Given the description of an element on the screen output the (x, y) to click on. 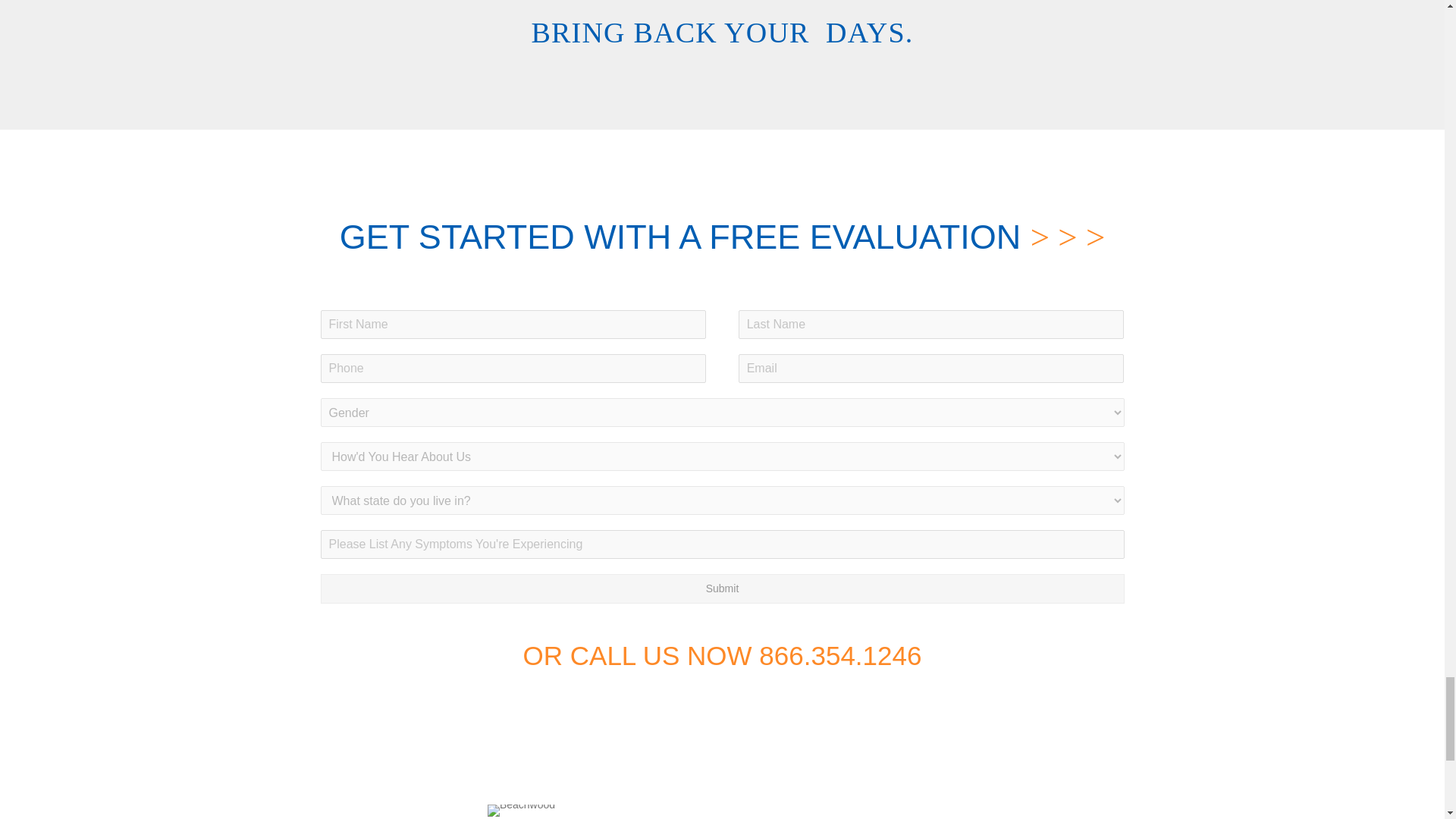
Submit (722, 588)
866.354.1246 (839, 655)
Beachwood (520, 810)
